Given the description of an element on the screen output the (x, y) to click on. 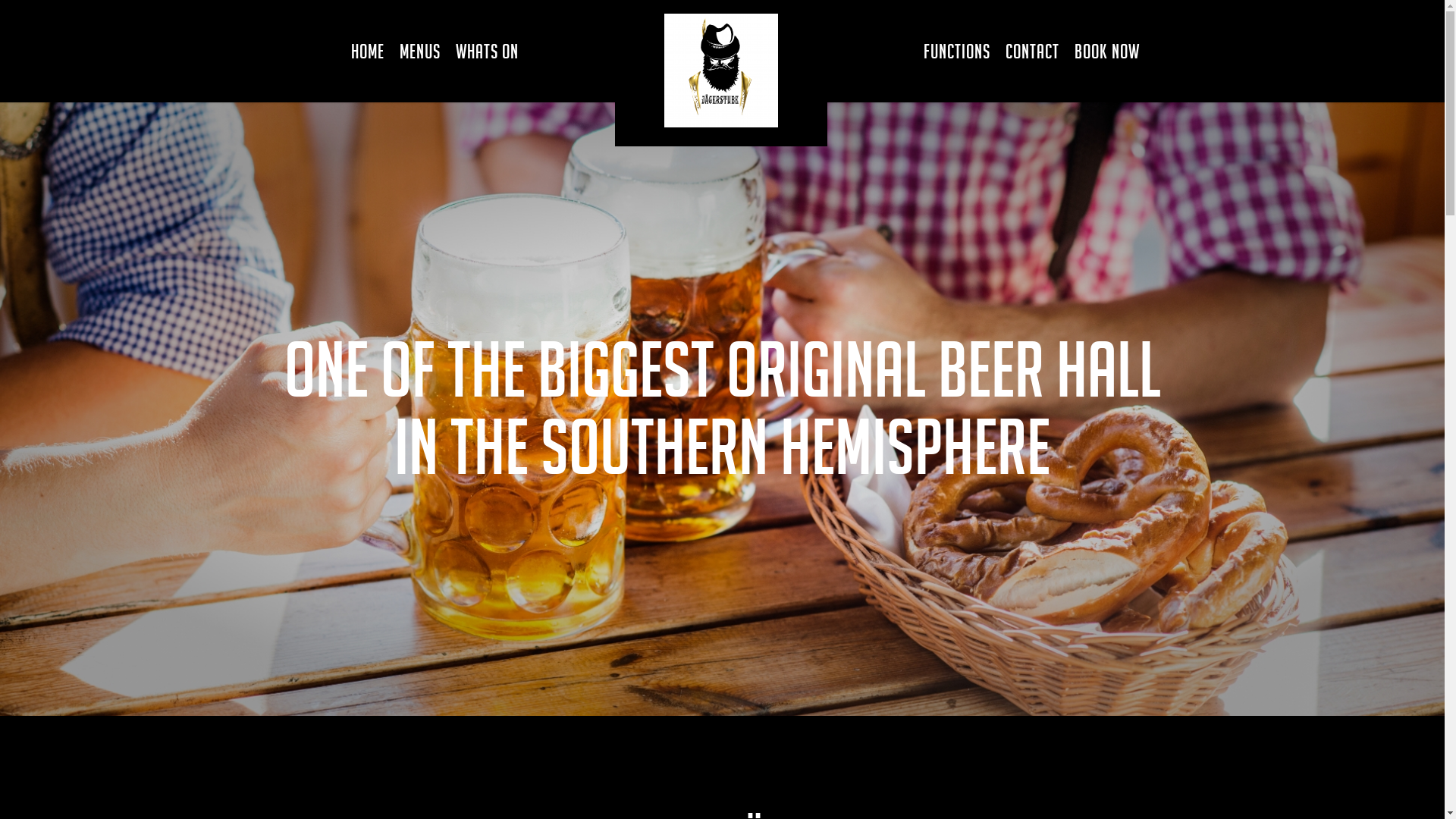
FUNCTIONS Element type: text (956, 51)
HOME Element type: text (366, 51)
CONTACT Element type: text (1031, 51)
BOOK NOW Element type: text (1106, 51)
WHATS ON Element type: text (486, 51)
MENUS Element type: text (419, 51)
